Given the description of an element on the screen output the (x, y) to click on. 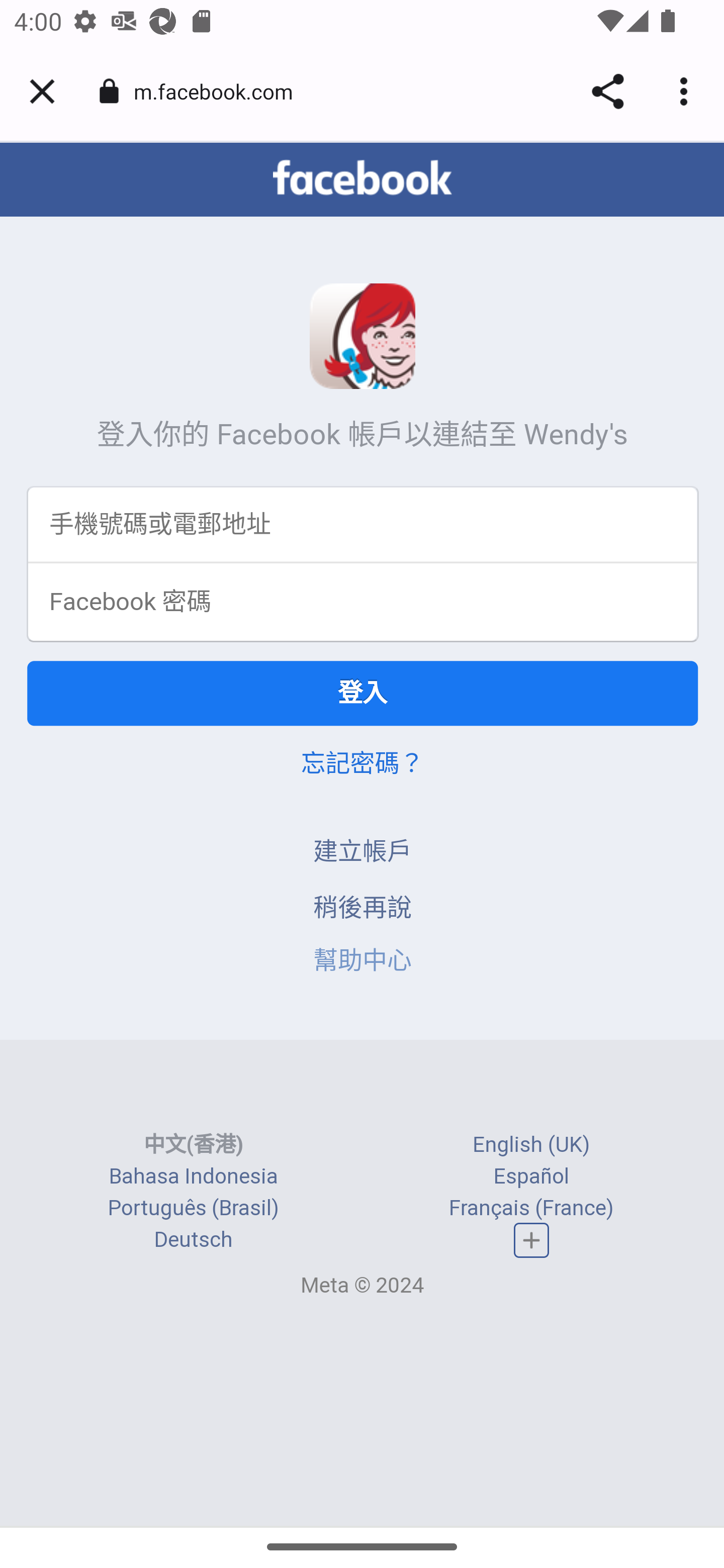
Close tab (42, 91)
Share (607, 91)
More options (687, 91)
Connection is secure (108, 91)
m.facebook.com (219, 90)
facebook (361, 179)
登入 (363, 694)
忘記密碼？ (362, 764)
建立帳戶 (363, 852)
稍後再說 (363, 909)
幫助中心 (363, 962)
English (UK) (531, 1145)
Bahasa Indonesia (193, 1177)
Español (531, 1177)
Português (Brasil) (193, 1208)
Français (France) (530, 1208)
完整的語言清單 (531, 1241)
Deutsch (192, 1240)
